Given the description of an element on the screen output the (x, y) to click on. 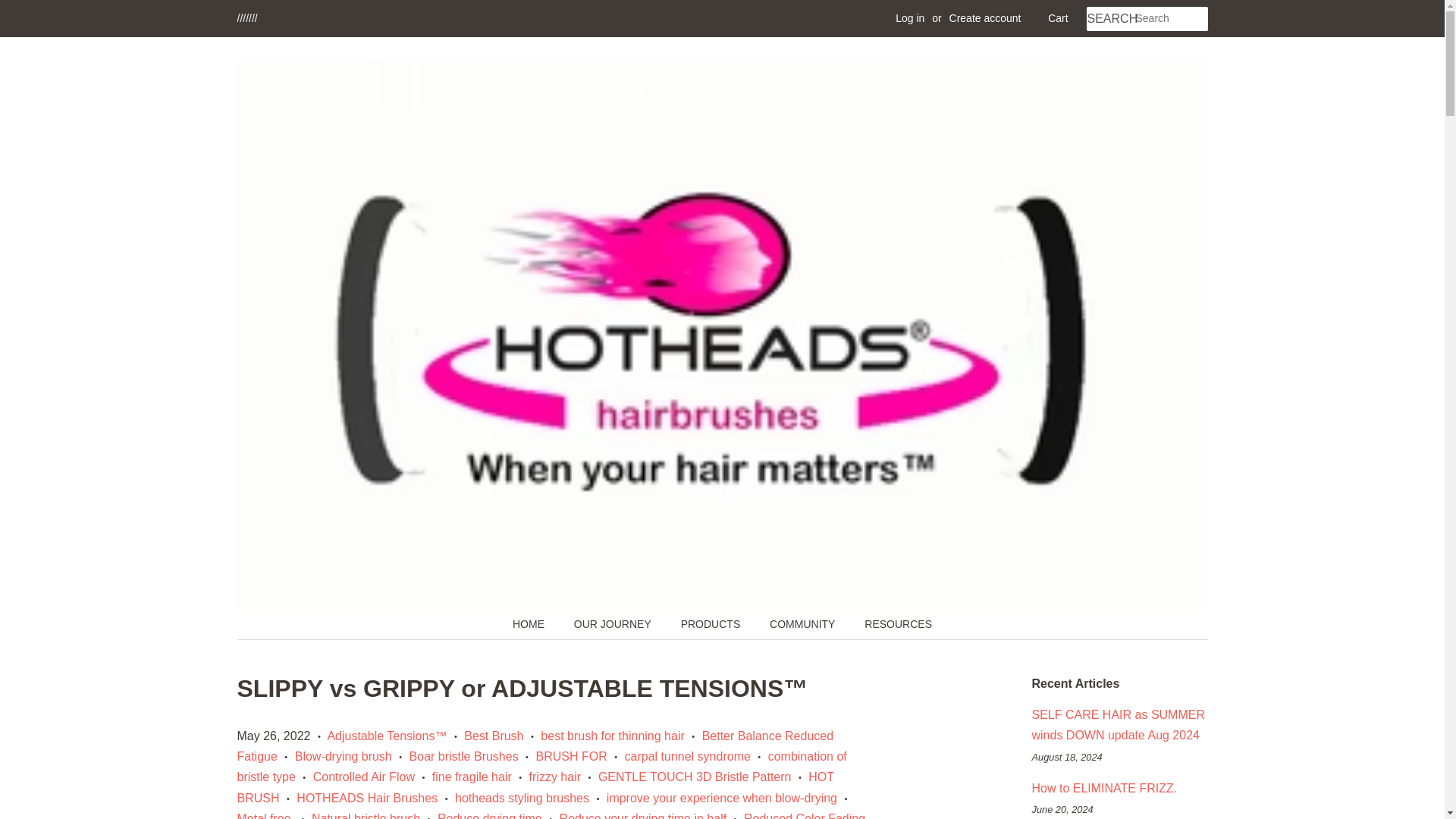
Create account (985, 18)
Cart (1057, 18)
SEARCH (1110, 18)
HOME (535, 624)
Log in (909, 18)
OUR JOURNEY (614, 624)
PRODUCTS (712, 624)
